Given the description of an element on the screen output the (x, y) to click on. 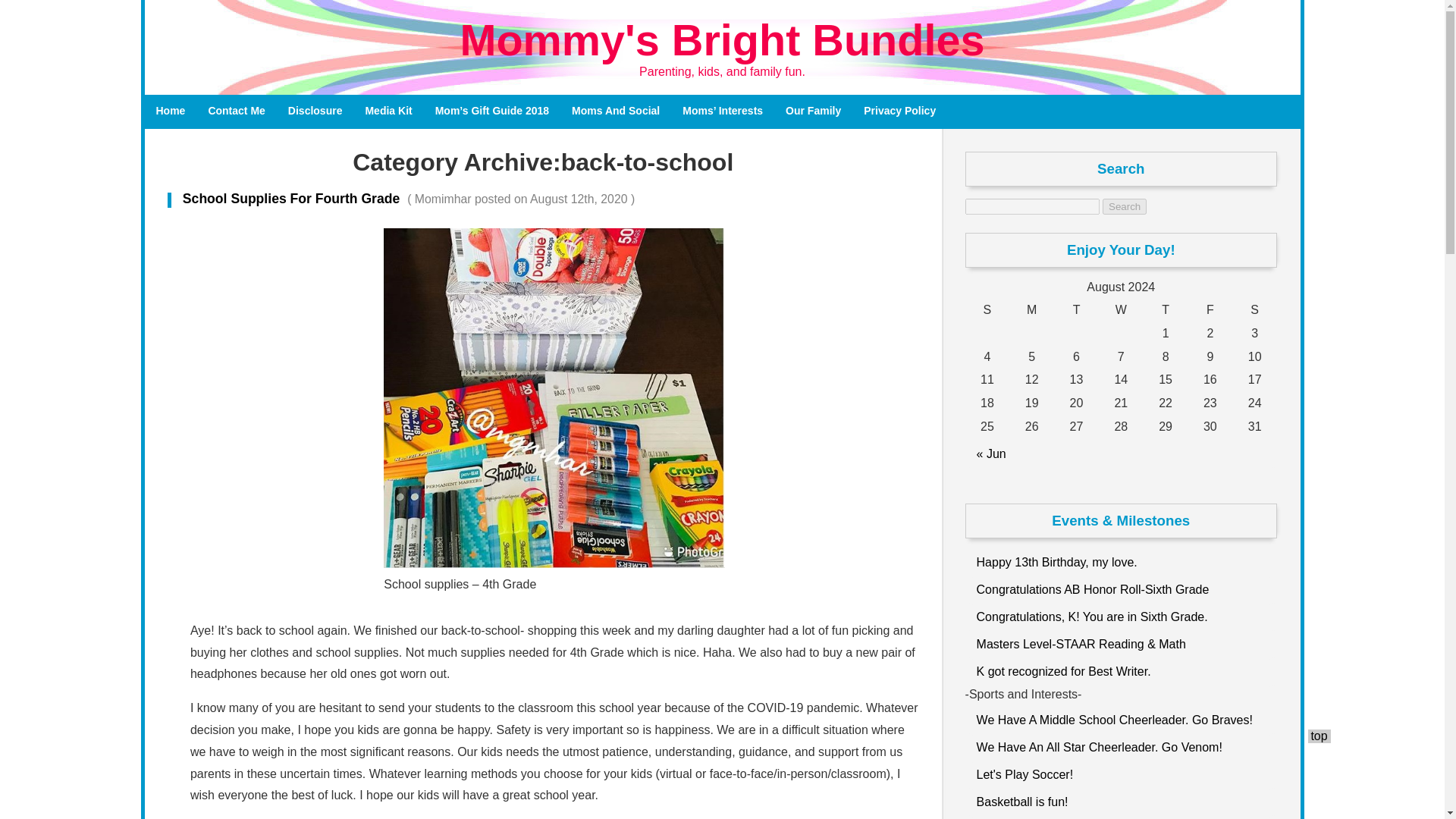
Privacy Policy (899, 111)
Media Kit (388, 111)
Tuesday (1076, 310)
Mommy's Bright Bundles (722, 39)
Basketball is fun! (1120, 800)
Search (1124, 206)
Home (170, 111)
Happy 13th Birthday, my love. (1120, 560)
We Have A Middle School Cheerleader. Go Braves! (1120, 718)
Congratulations AB Honor Roll-Sixth Grade (1120, 587)
Friday (1209, 310)
Moms And Social (615, 111)
Let's Play Soccer! (1120, 773)
Thursday (1165, 310)
Disclosure (314, 111)
